Given the description of an element on the screen output the (x, y) to click on. 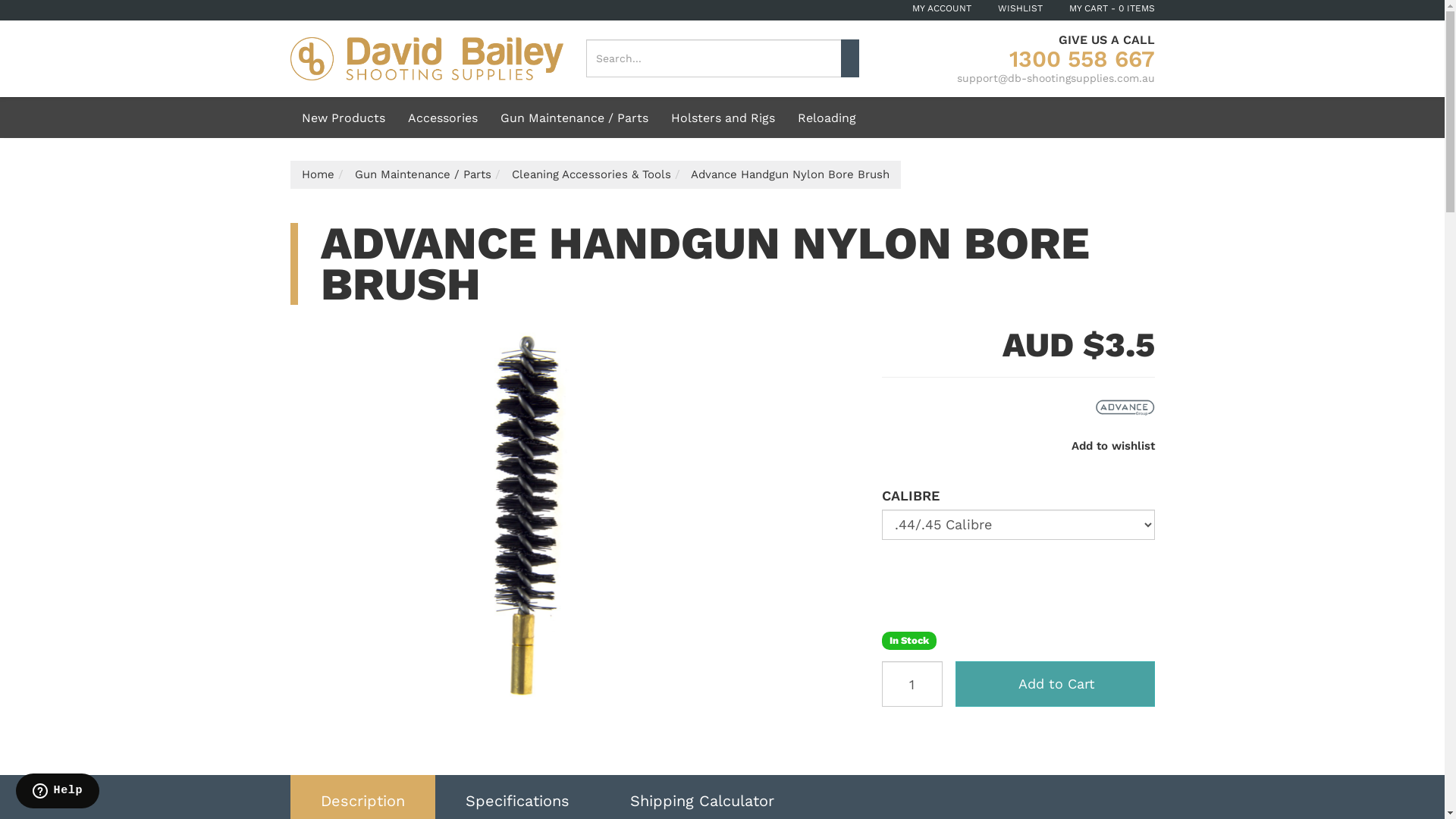
Advance Element type: hover (1123, 407)
New Products Element type: text (342, 117)
MY CART - 0 ITEMS Element type: text (1111, 8)
Accessories Element type: text (441, 117)
Gun Maintenance / Parts Element type: text (573, 117)
Gun Maintenance / Parts Element type: text (422, 174)
Advance Handgun Nylon Bore Brush Element type: text (789, 174)
David Bailey Enterprises Pty Ltd Element type: hover (425, 57)
Home Element type: text (317, 174)
Add to wishlist Element type: text (1108, 445)
Reloading Element type: text (825, 117)
WISHLIST Element type: text (1025, 8)
Add to Cart Element type: text (1054, 683)
Holsters and Rigs Element type: text (722, 117)
1300 558 667 Element type: text (1081, 58)
support@db-shootingsupplies.com.au Element type: text (1055, 78)
MY ACCOUNT Element type: text (946, 8)
Cleaning Accessories & Tools Element type: text (590, 174)
Opens a widget where you can find more information Element type: hover (57, 792)
Large View Element type: hover (537, 516)
Search Element type: text (849, 58)
